Given the description of an element on the screen output the (x, y) to click on. 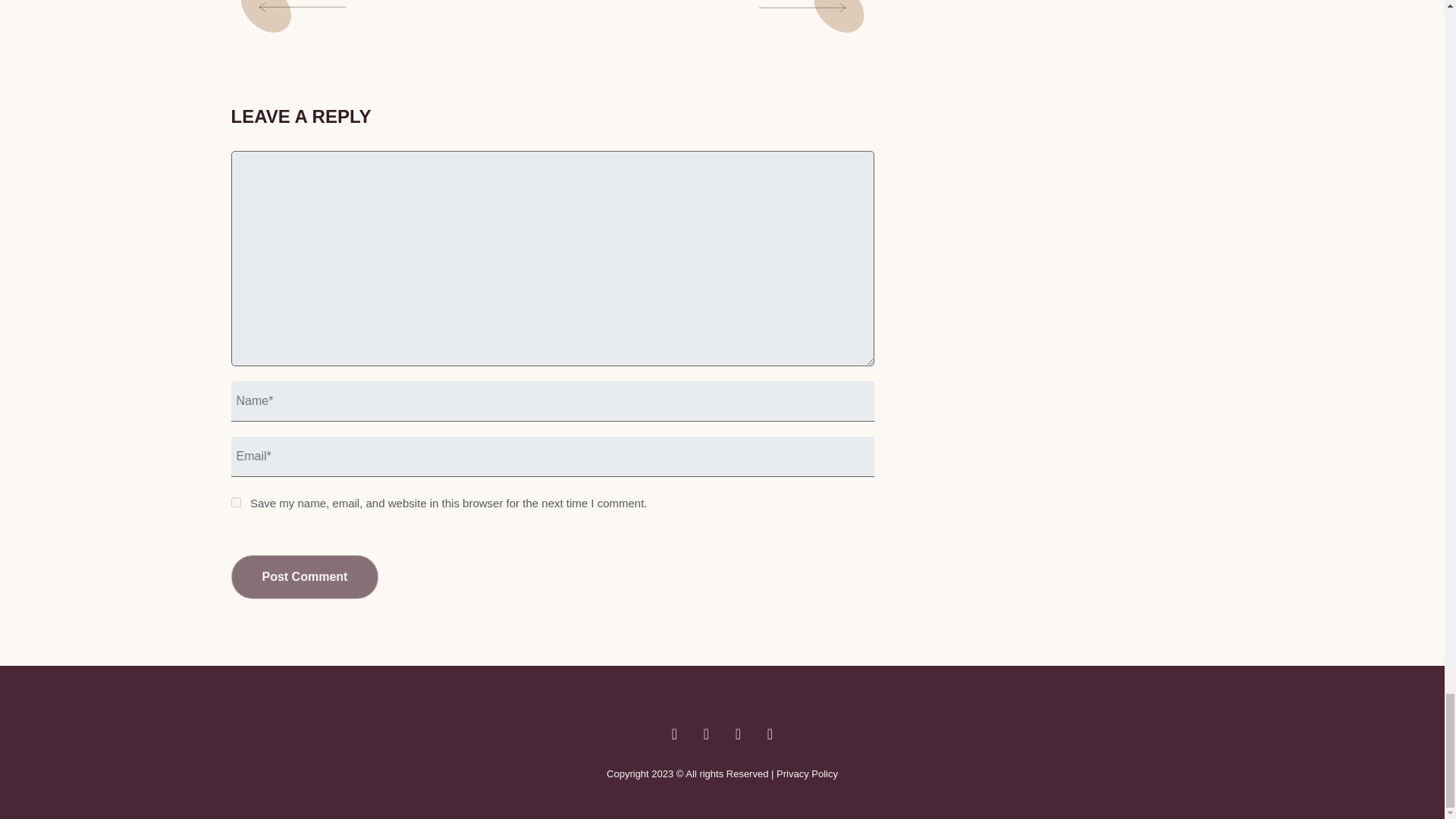
Post Comment (304, 576)
Post Comment (304, 576)
yes (235, 501)
